Given the description of an element on the screen output the (x, y) to click on. 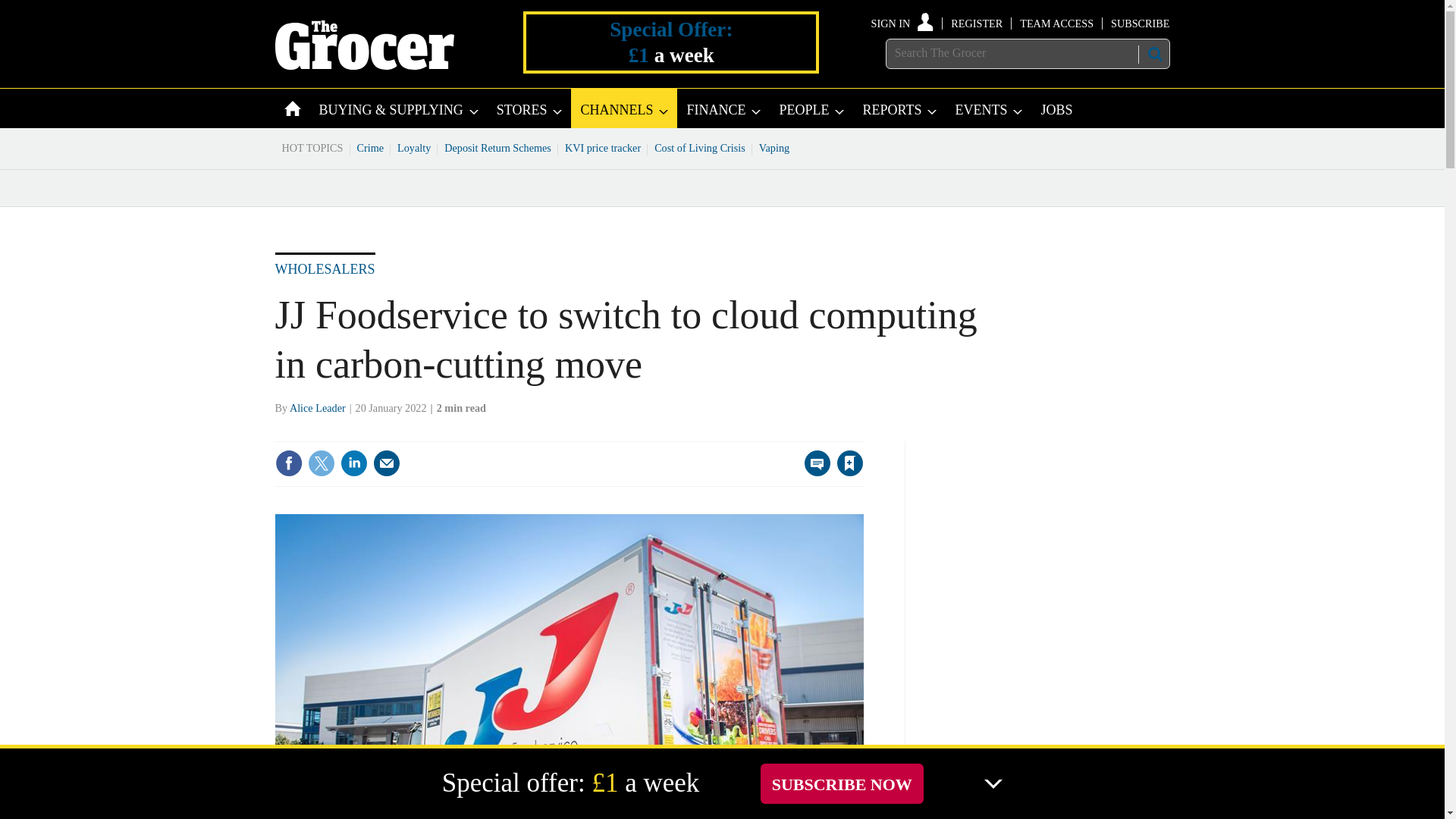
SUBSCRIBE NOW (841, 783)
Share this on Facebook (288, 462)
Loyalty (414, 147)
SEARCH (1153, 53)
SIGN IN (902, 23)
Vaping (774, 147)
Email this article (386, 462)
Site name (363, 65)
No comments (812, 472)
TEAM ACCESS (1056, 23)
Cost of Living Crisis (699, 147)
REGISTER (976, 23)
Crime (370, 147)
Deposit Return Schemes (497, 147)
SUBSCRIBE (1139, 23)
